Given the description of an element on the screen output the (x, y) to click on. 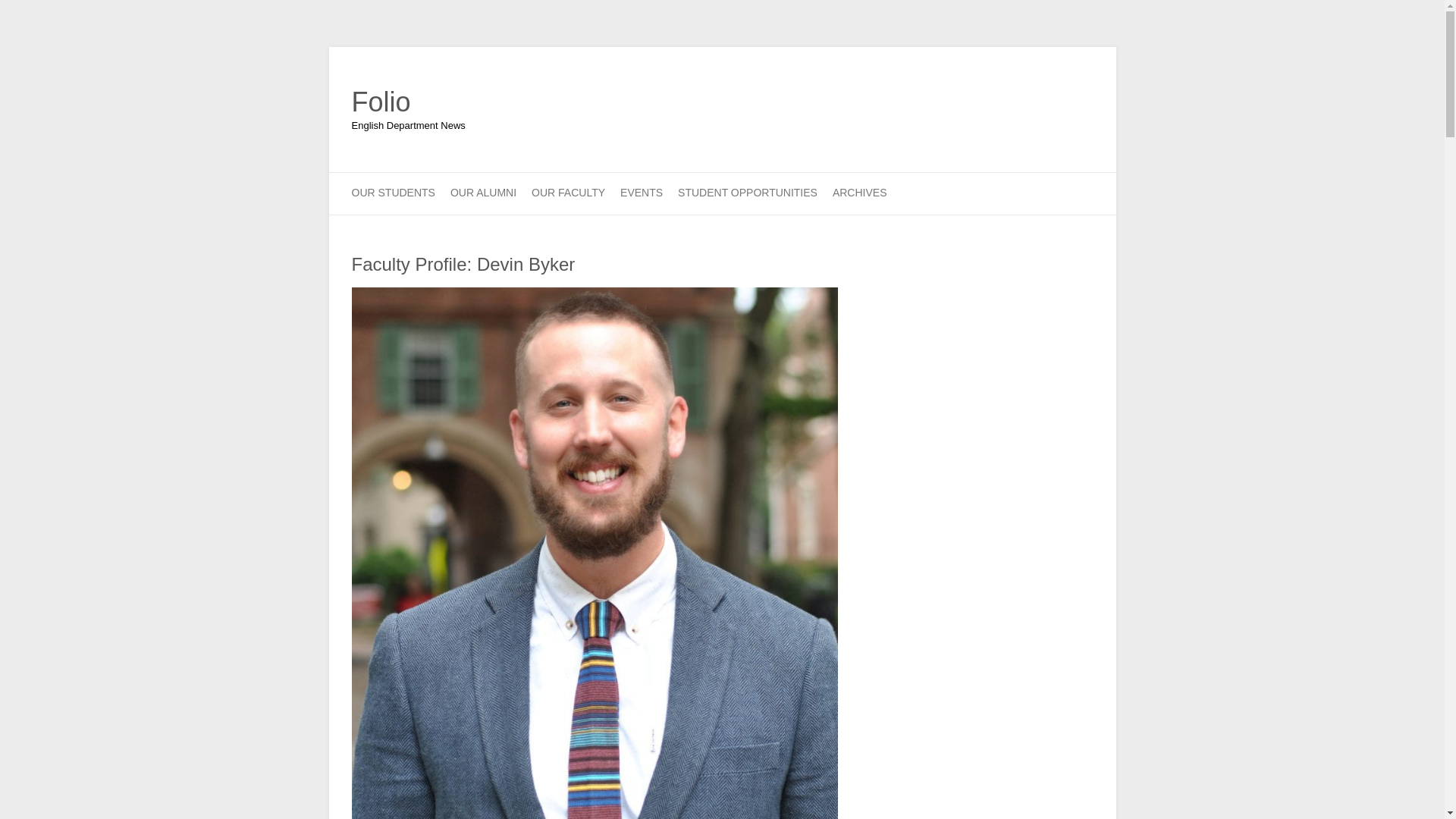
OUR STUDENTS (393, 193)
Folio (408, 101)
OUR ALUMNI (482, 193)
STUDENT OPPORTUNITIES (747, 193)
Back to Top (1423, 797)
Folio (408, 101)
OUR FACULTY (568, 193)
ARCHIVES (859, 193)
EVENTS (641, 193)
